Given the description of an element on the screen output the (x, y) to click on. 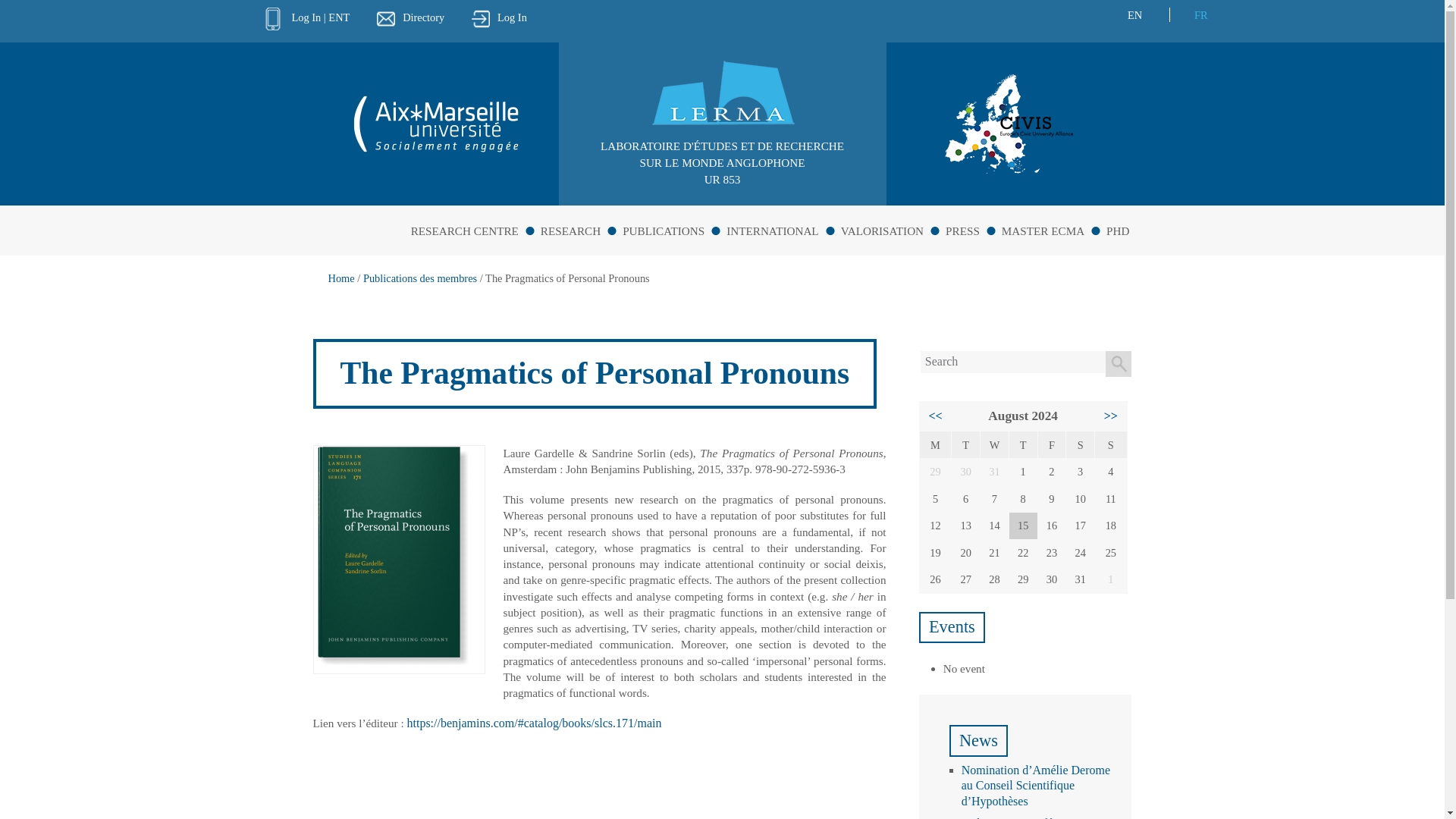
MASTER ECMA (1052, 228)
EN (1133, 15)
Log In (499, 17)
FR (1200, 15)
INTERNATIONAL (782, 228)
PUBLICATIONS (673, 228)
RESEARCH (580, 228)
Directory (410, 17)
VALORISATION (892, 228)
PRESS (971, 228)
